Given the description of an element on the screen output the (x, y) to click on. 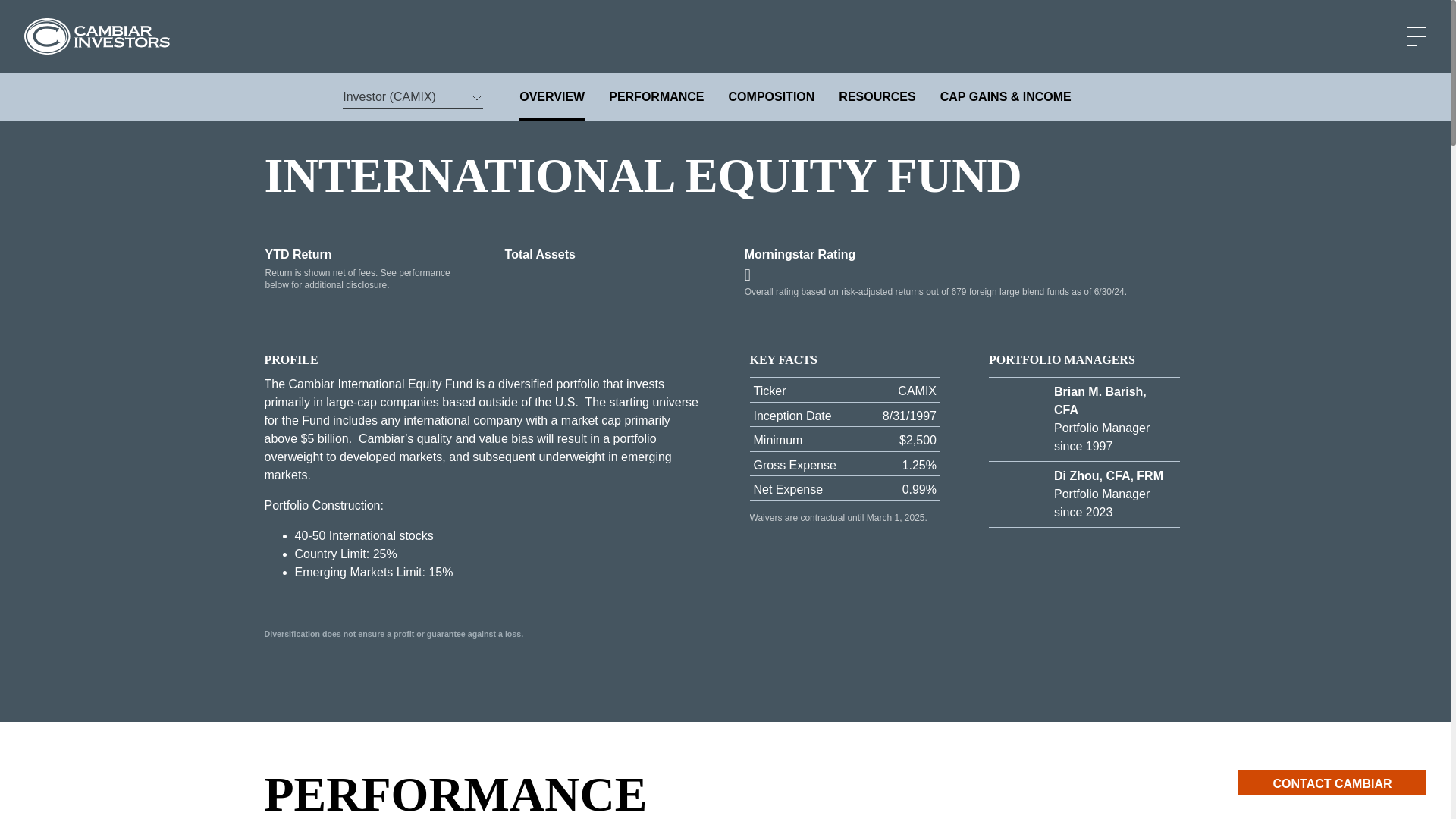
COMPOSITION (772, 96)
PERFORMANCE (655, 96)
Skip to content (29, 116)
OVERVIEW (552, 96)
Cambiar Investors (97, 36)
CONTACT CAMBIAR (1332, 782)
RESOURCES (876, 96)
